Given the description of an element on the screen output the (x, y) to click on. 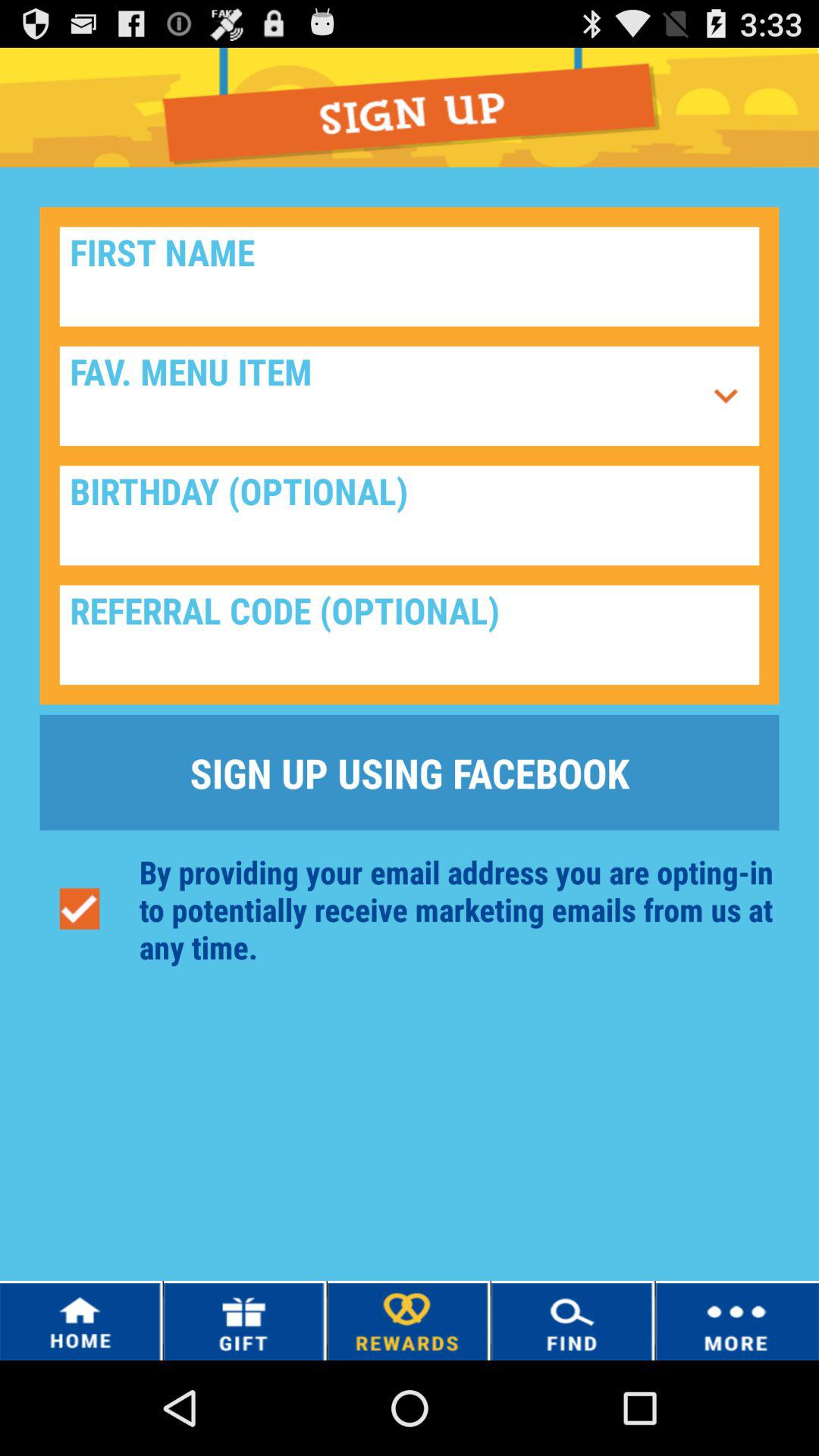
choose fav menu item (725, 395)
